Given the description of an element on the screen output the (x, y) to click on. 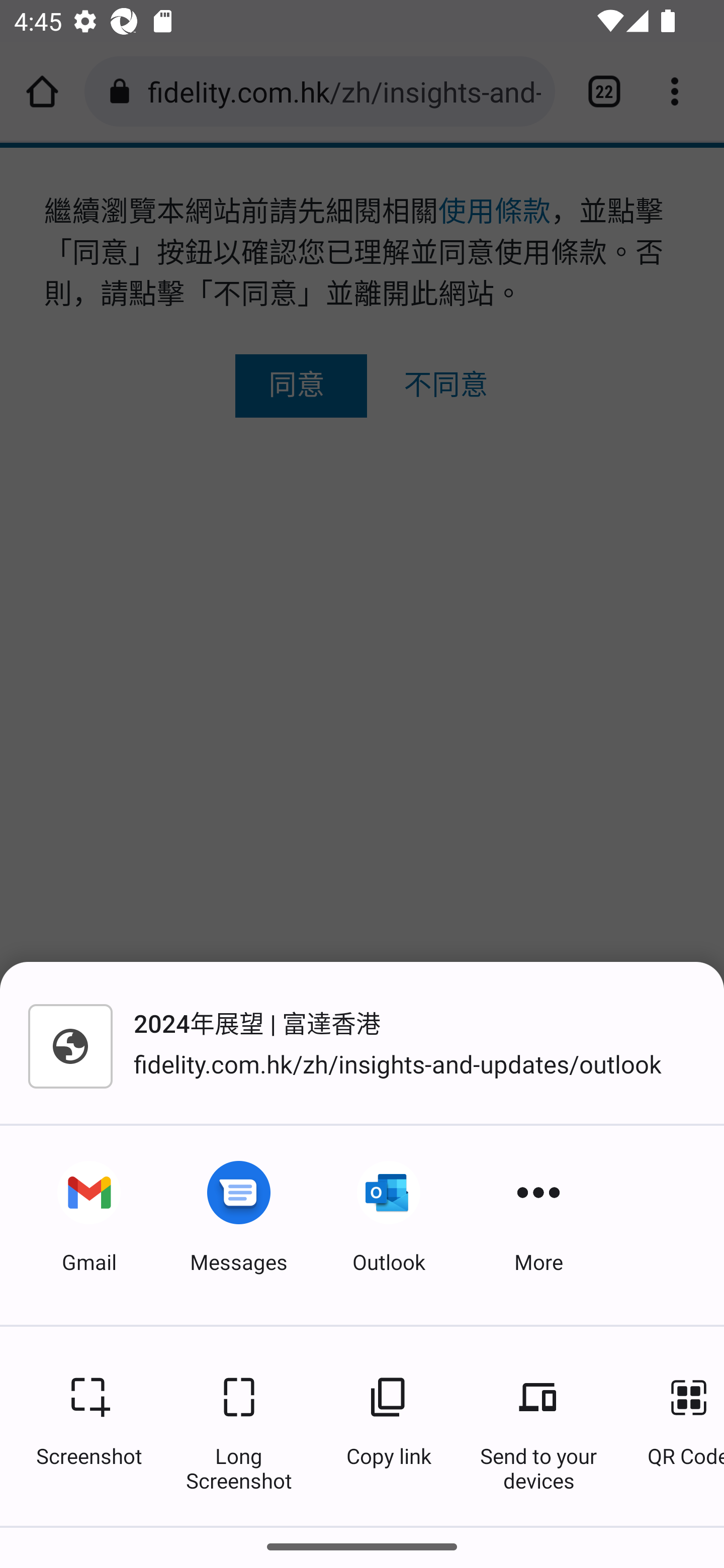
Gmail (88, 1224)
Messages (238, 1224)
Outlook (388, 1224)
More (538, 1224)
Screenshot (88, 1425)
Long Screenshot (238, 1425)
Copy link (388, 1425)
Send to your devices (538, 1425)
QR Code (675, 1425)
